Given the description of an element on the screen output the (x, y) to click on. 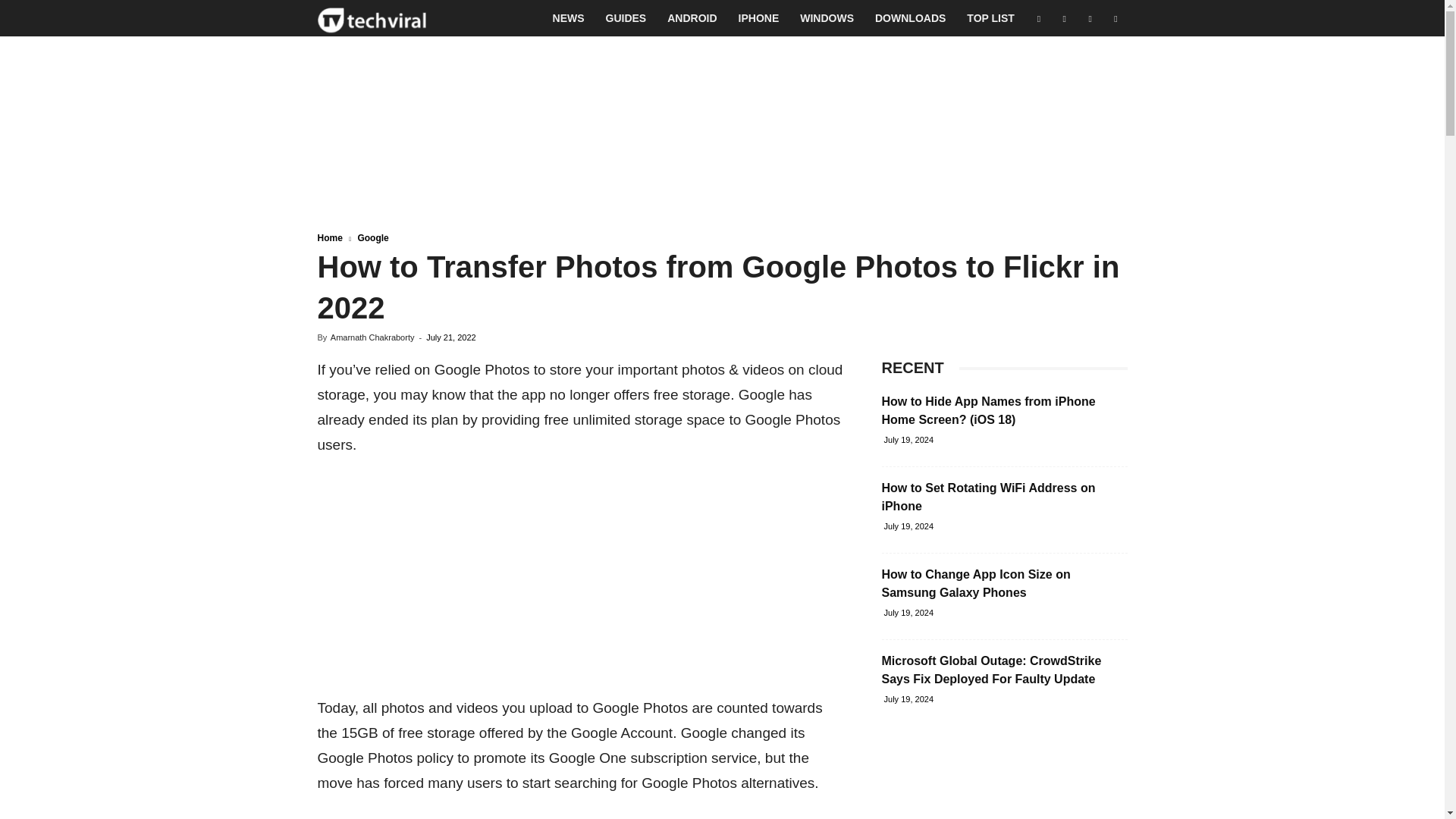
GUIDES (626, 18)
DOWNLOADS (910, 18)
ANDROID (691, 18)
TechViral (371, 18)
TOP LIST (990, 18)
Tech Viral (371, 18)
WINDOWS (826, 18)
NEWS (568, 18)
Advertisement (580, 582)
Home (329, 237)
Amarnath Chakraborty (372, 337)
IPHONE (759, 18)
